Given the description of an element on the screen output the (x, y) to click on. 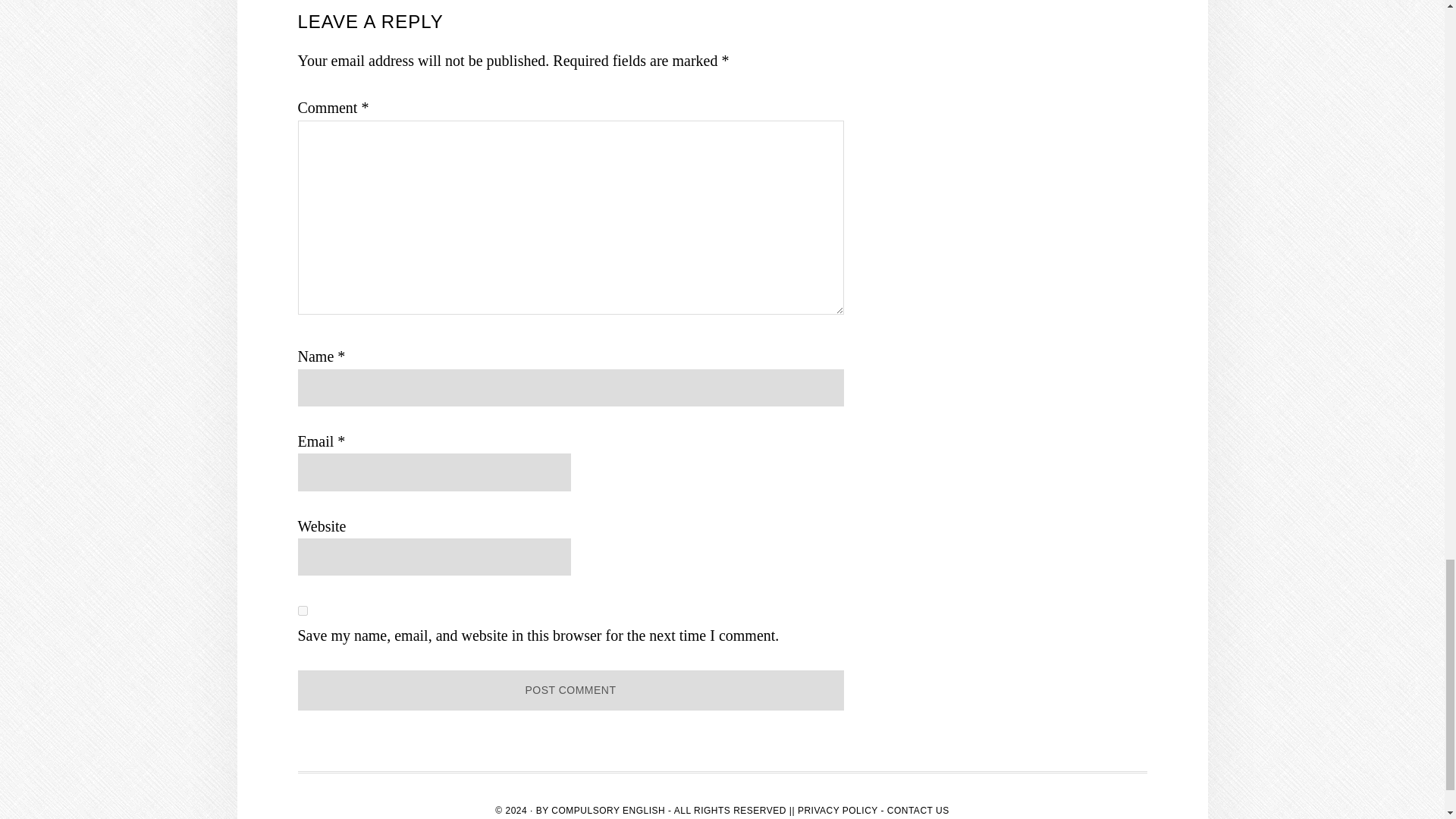
yes (302, 610)
Post Comment (570, 690)
Post Comment (570, 690)
